Given the description of an element on the screen output the (x, y) to click on. 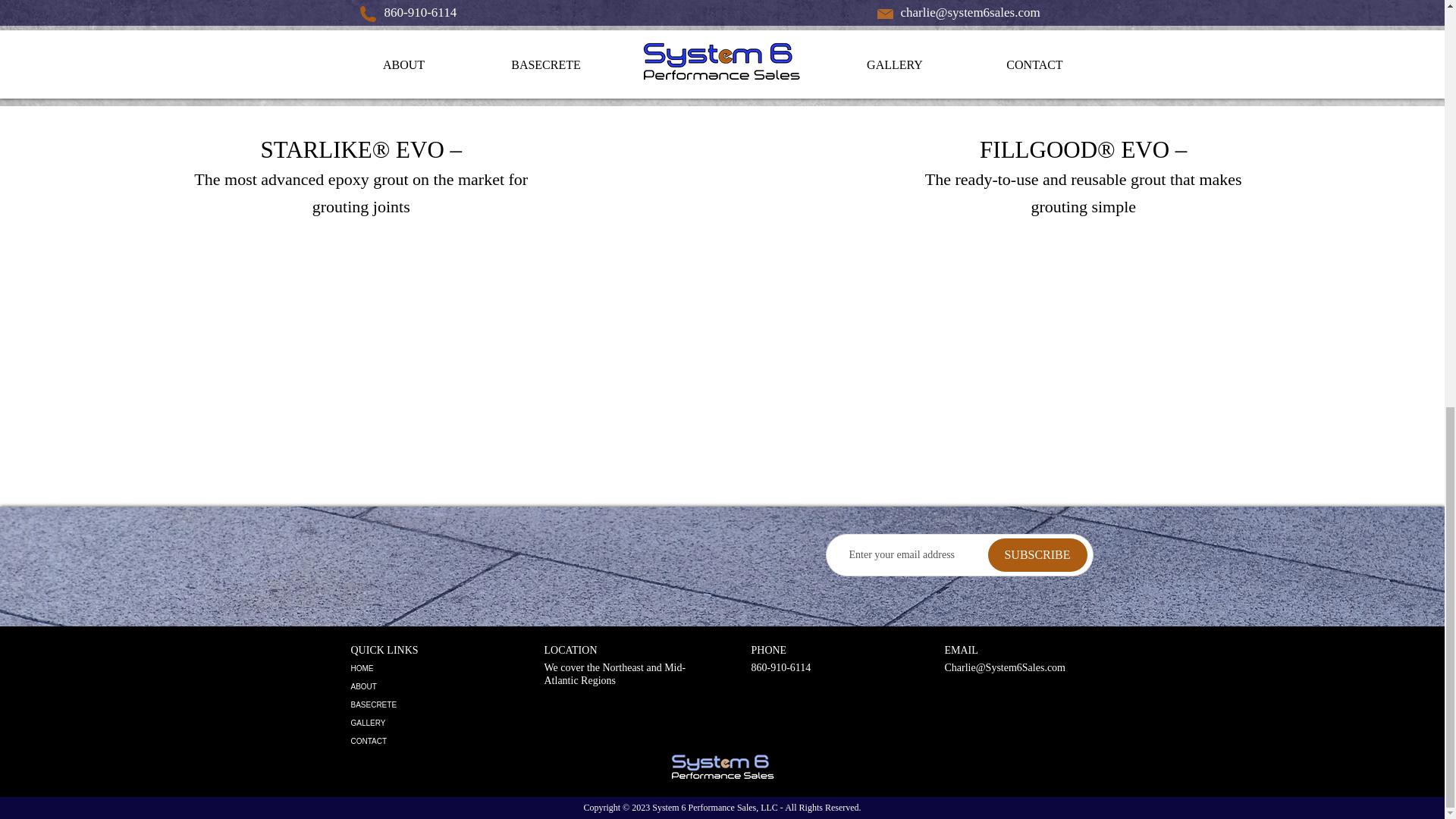
We cover the Northeast and Mid-Atlantic Regions (614, 673)
BASECRETE (422, 705)
ABOUT (422, 687)
CONTACT (422, 741)
860-910-6114 (780, 666)
SUBSCRIBE (1036, 554)
GALLERY (422, 723)
HOME (422, 669)
